Given the description of an element on the screen output the (x, y) to click on. 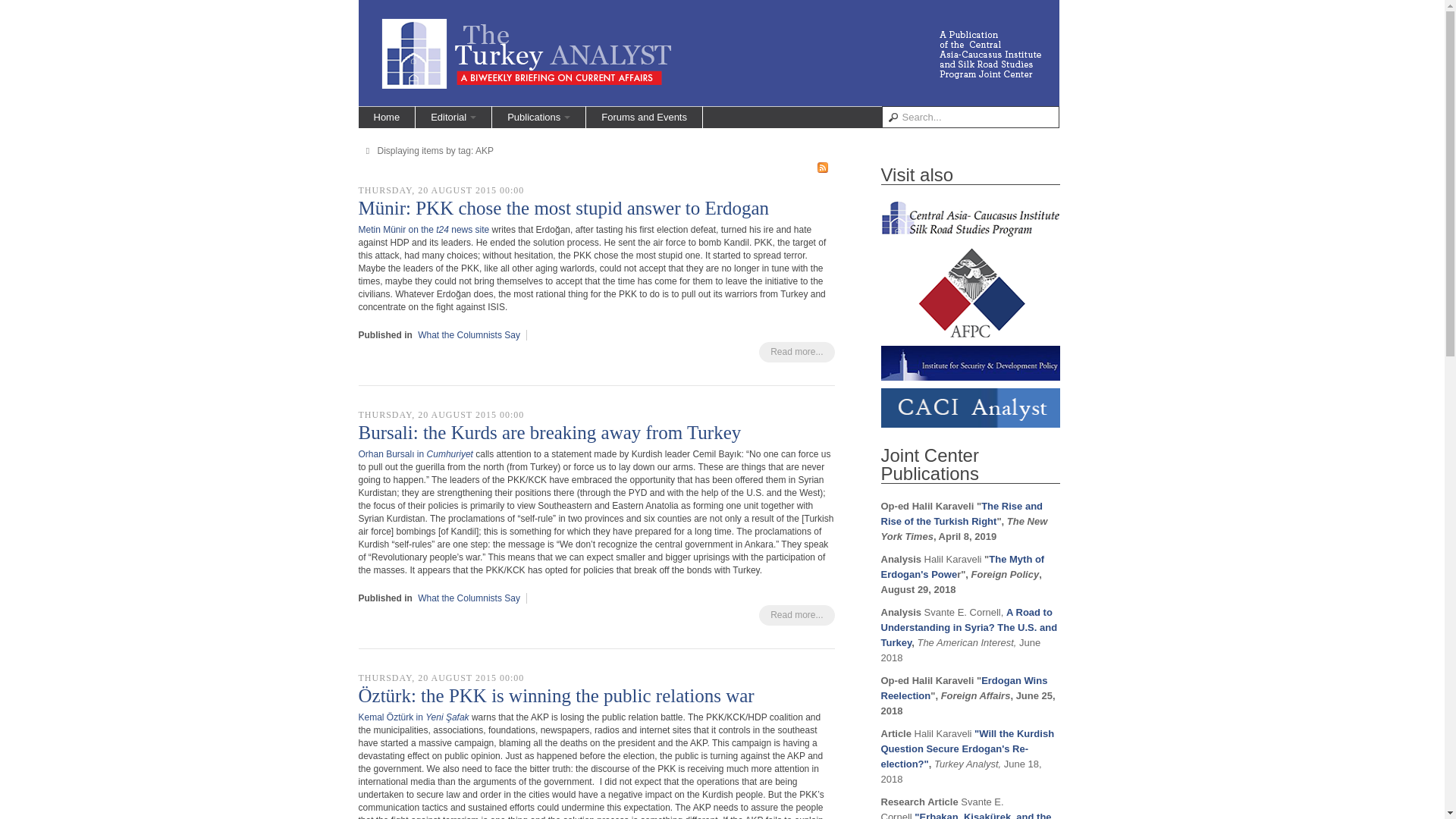
What the Columnists Say (468, 597)
Home (386, 117)
Read more... (796, 615)
Bursali: the Kurds are breaking away from Turkey (549, 432)
Subscribe to this RSS feed (821, 167)
Read more... (796, 352)
Editorial (453, 117)
Publications (538, 117)
Forums and Events (643, 117)
What the Columnists Say (468, 335)
